Given the description of an element on the screen output the (x, y) to click on. 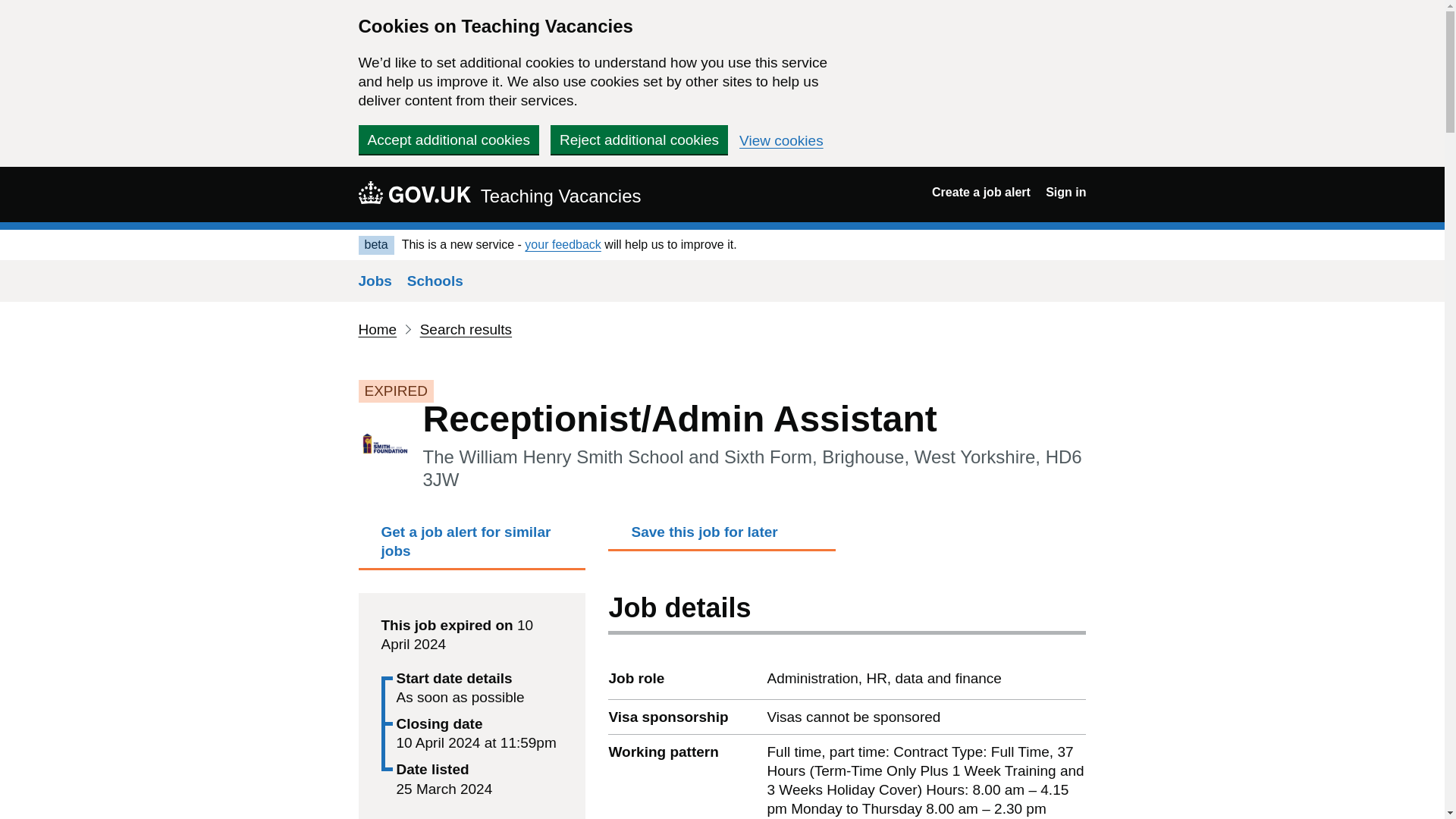
your feedback (562, 244)
Home (377, 329)
Search results (466, 329)
Accept additional cookies (448, 139)
Create a job alert (980, 192)
Sign in (1065, 192)
Reject additional cookies (639, 139)
Get a job alert for similar jobs (471, 545)
GOV.UK Teaching Vacancies (499, 194)
